Given the description of an element on the screen output the (x, y) to click on. 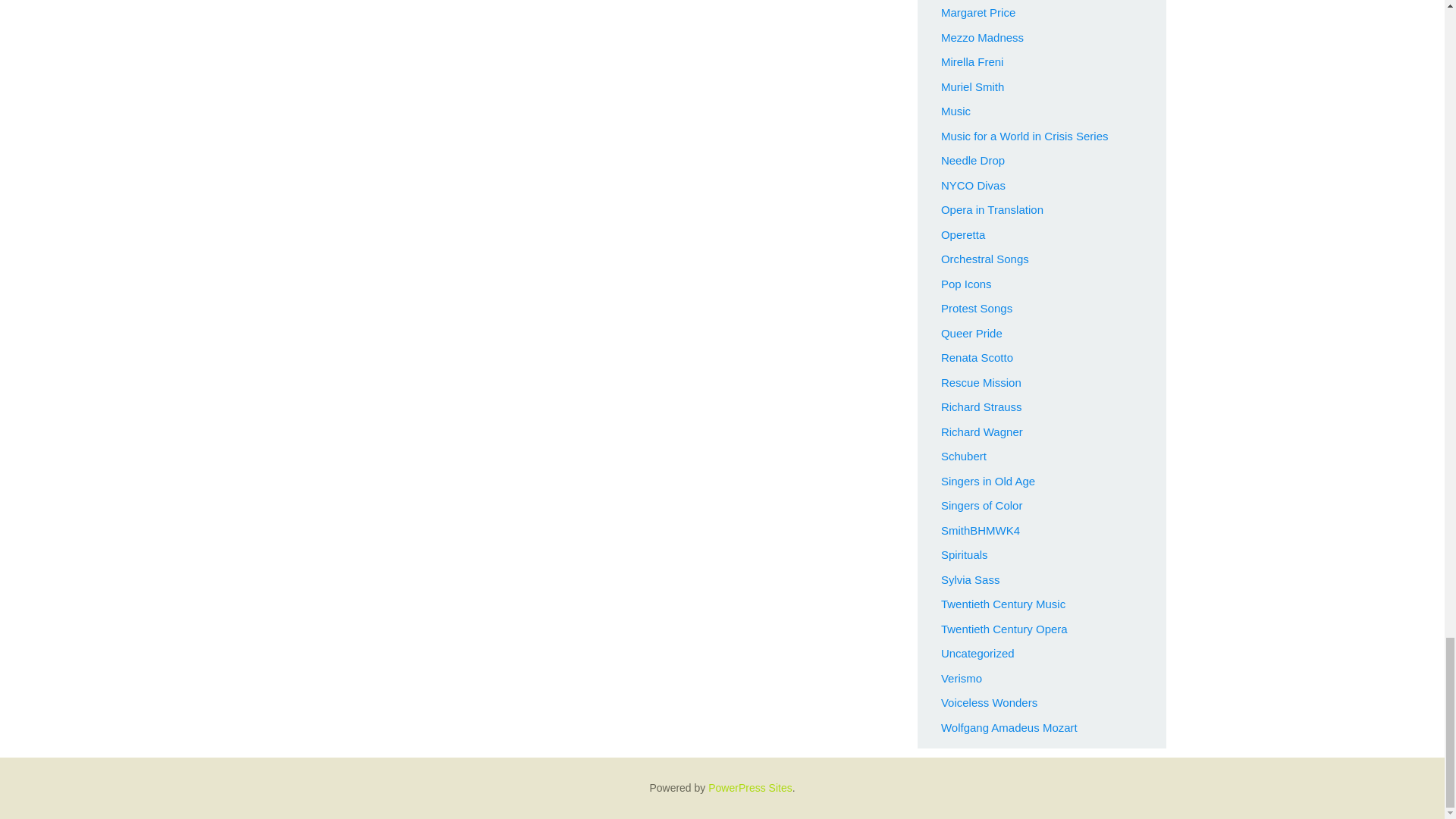
Managed WordPress Hosting for your audio and video website (749, 787)
